Given the description of an element on the screen output the (x, y) to click on. 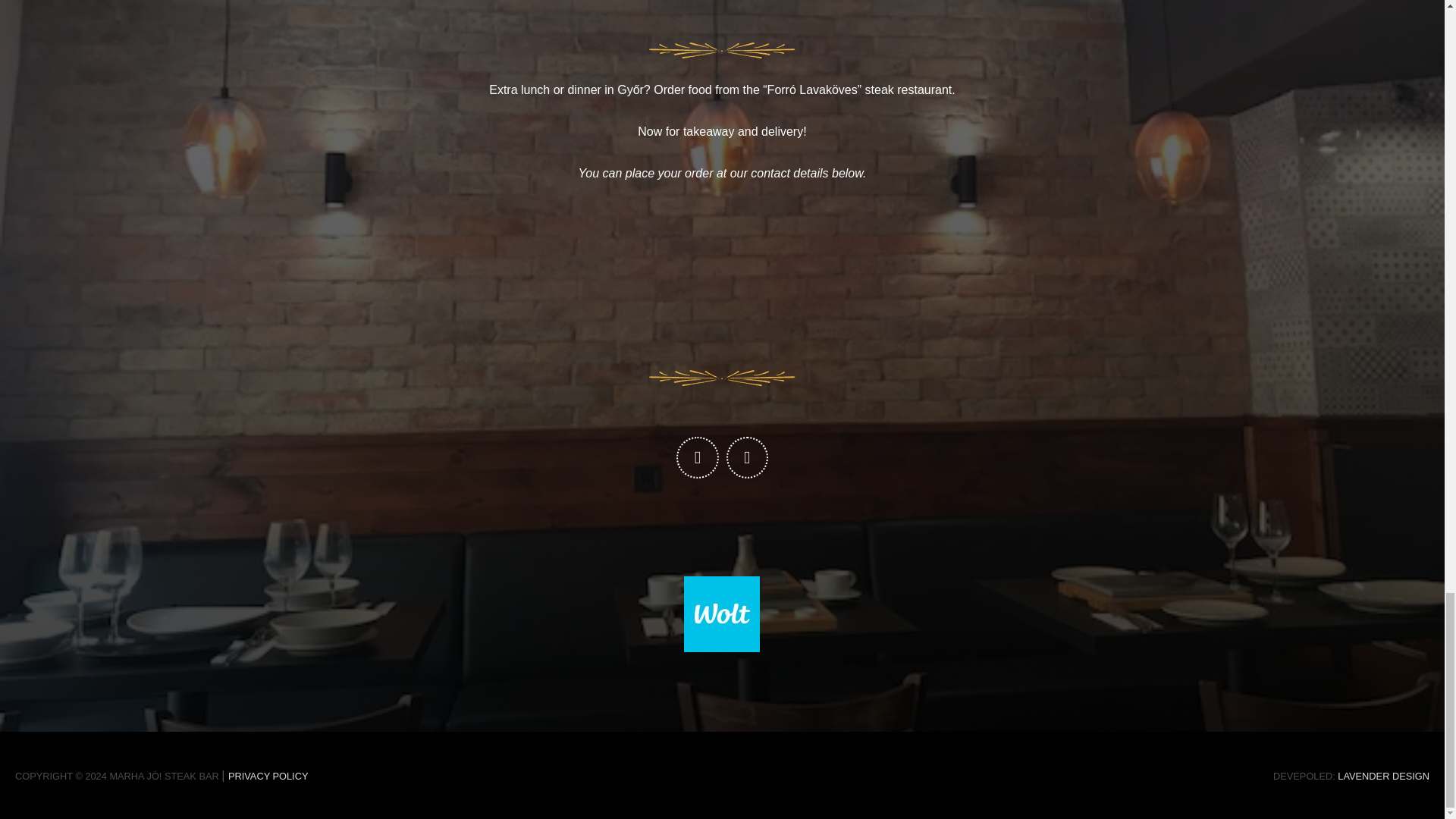
PRIVACY POLICY (268, 776)
LAVENDER DESIGN (1383, 776)
Instagram (747, 457)
Facebook-f (697, 457)
